Given the description of an element on the screen output the (x, y) to click on. 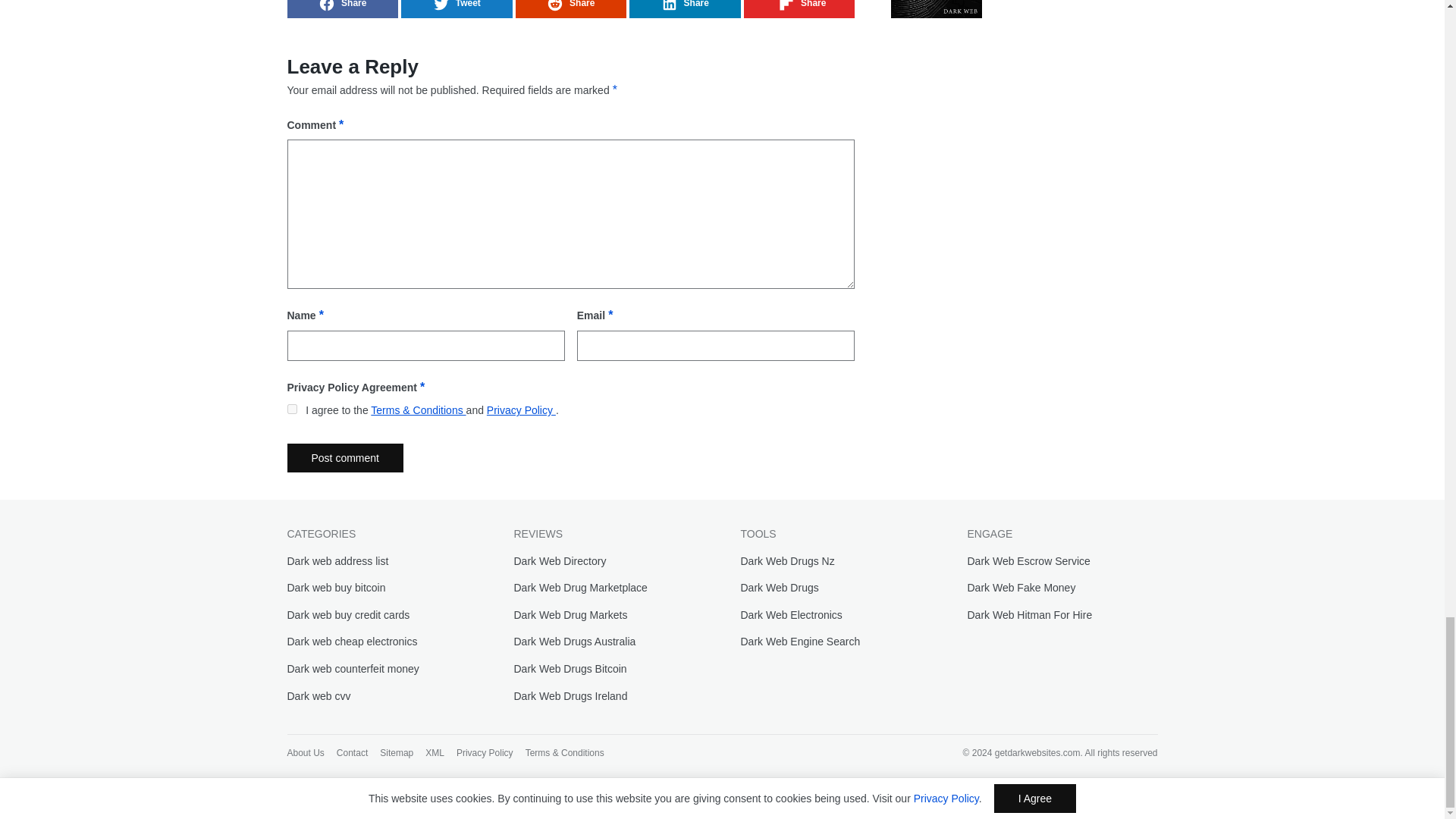
on (291, 409)
